Given the description of an element on the screen output the (x, y) to click on. 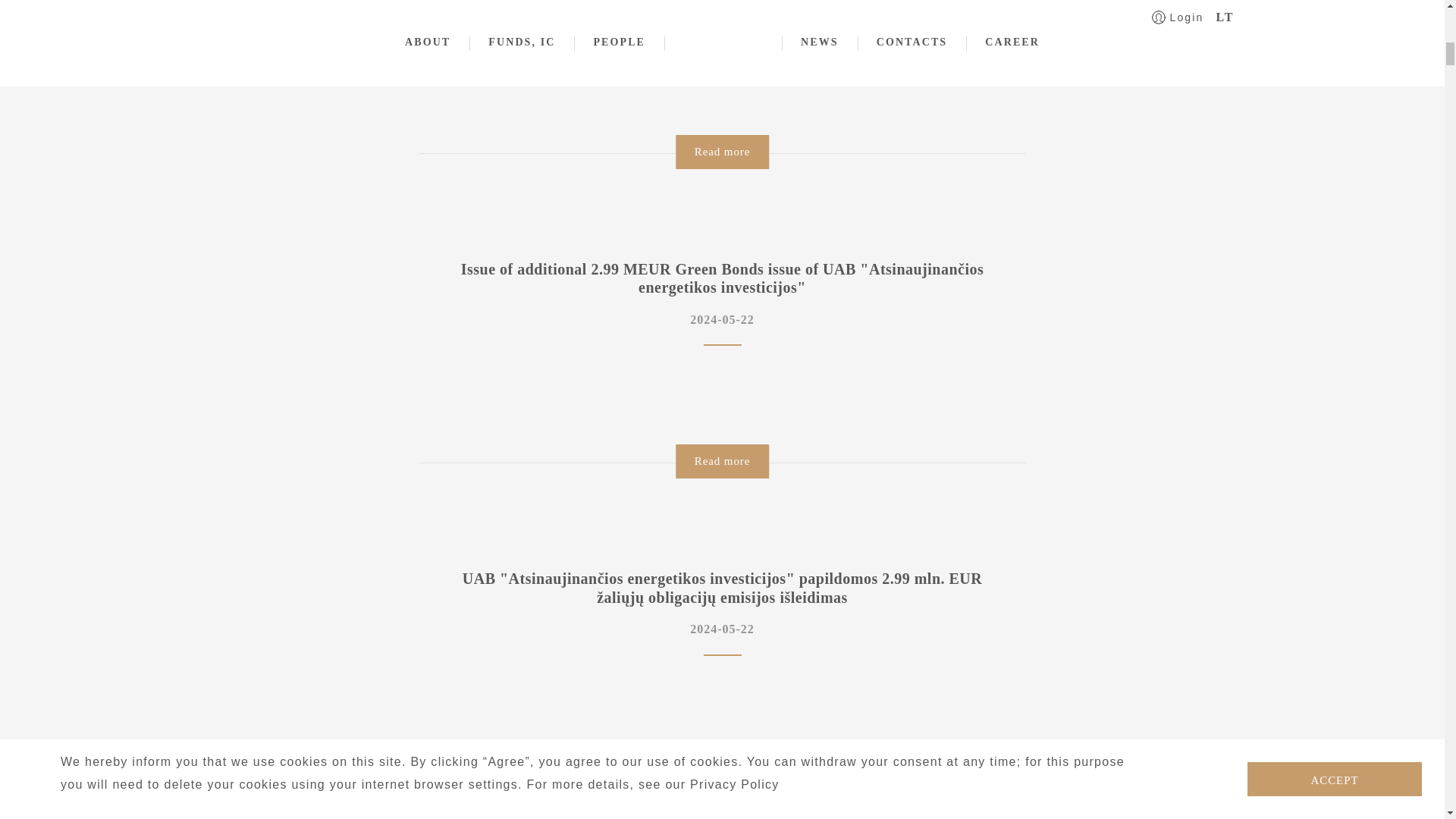
Read more (722, 771)
Read more (722, 461)
Read more (722, 151)
